Given the description of an element on the screen output the (x, y) to click on. 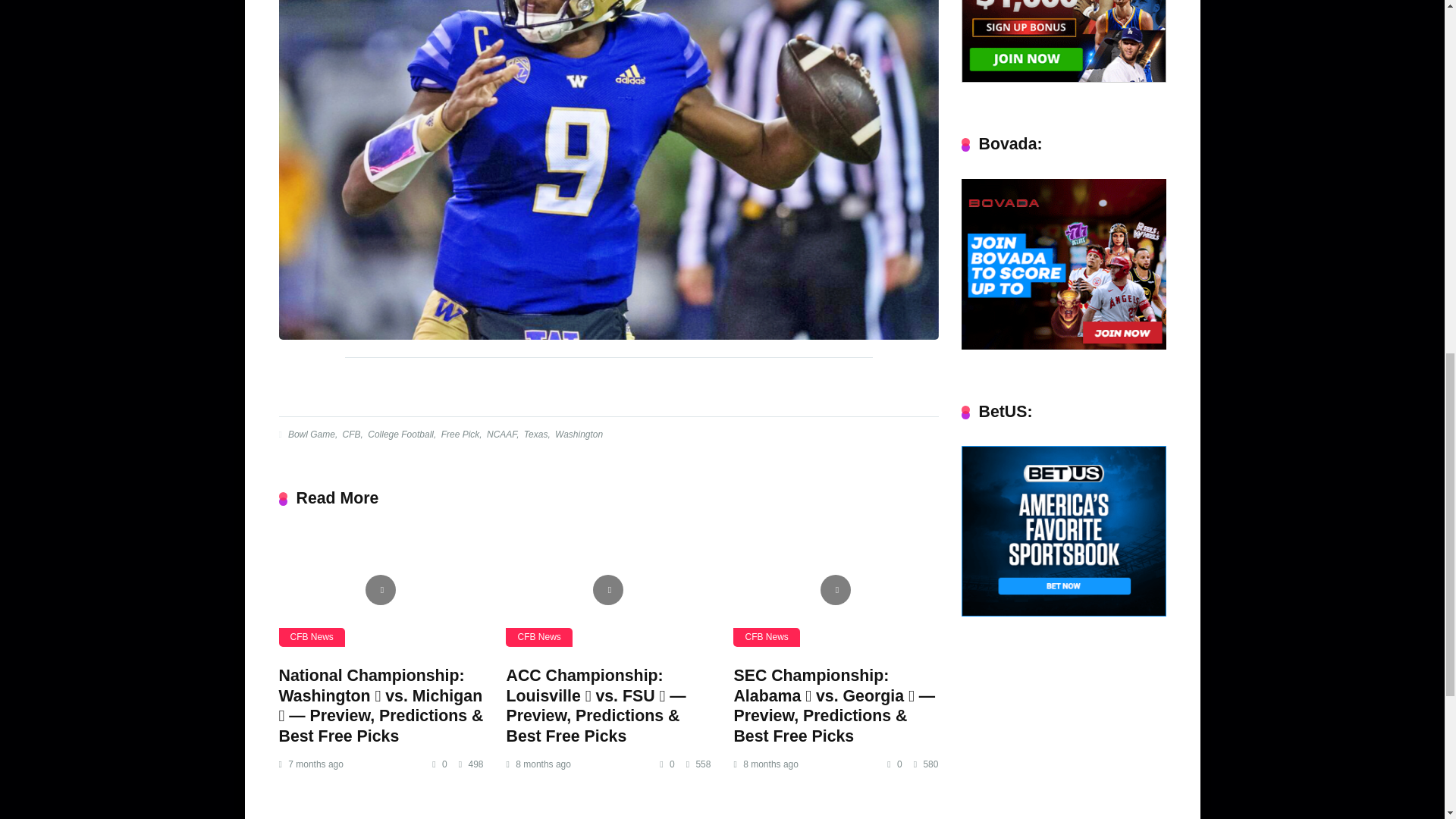
CFB News (538, 637)
CFB News (766, 637)
Texas (534, 434)
NCAAF (500, 434)
Bowl Game (309, 434)
Free Pick (459, 434)
CFB (350, 434)
College Football (399, 434)
CFB News (312, 637)
Washington (577, 434)
